Given the description of an element on the screen output the (x, y) to click on. 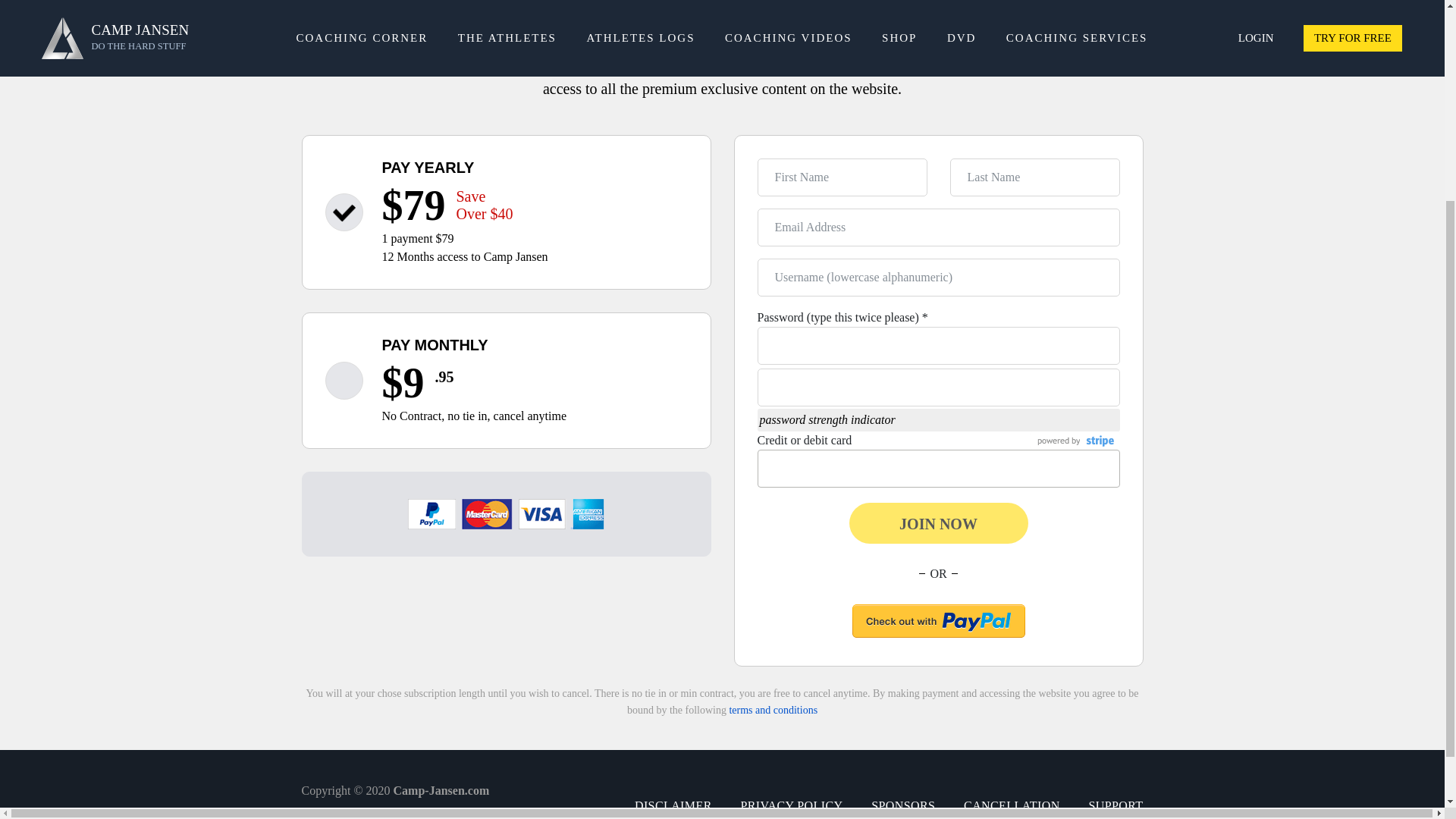
JOIN NOW (937, 522)
PRIVACY POLICY (791, 805)
CANCELLATION (1011, 805)
SPONSORS (902, 805)
SUPPORT (1114, 805)
PayPal - The safer, easier way to pay online! (938, 621)
terms and conditions (772, 709)
DISCLAIMER (672, 805)
